Given the description of an element on the screen output the (x, y) to click on. 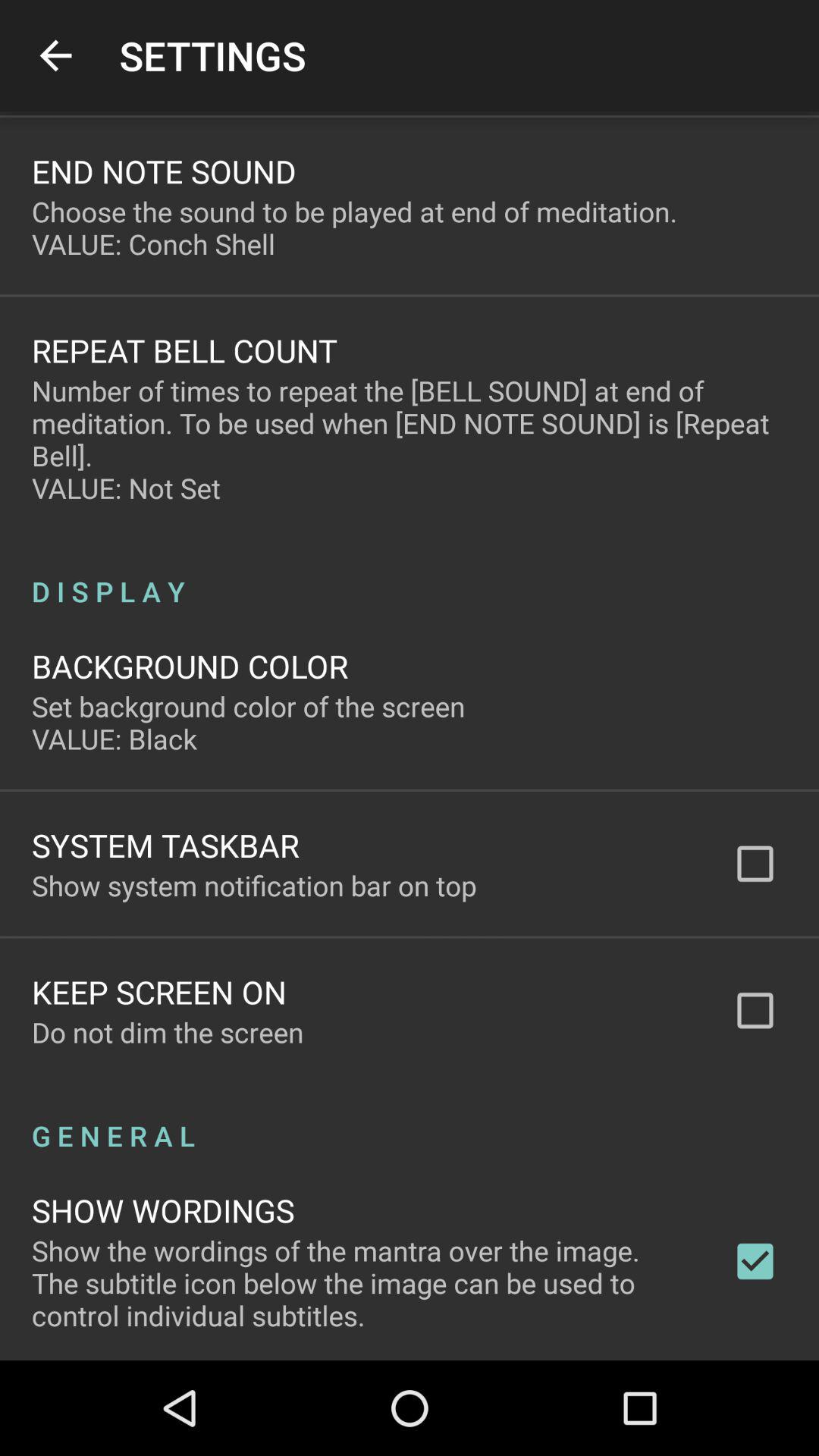
press the show system notification icon (253, 885)
